Given the description of an element on the screen output the (x, y) to click on. 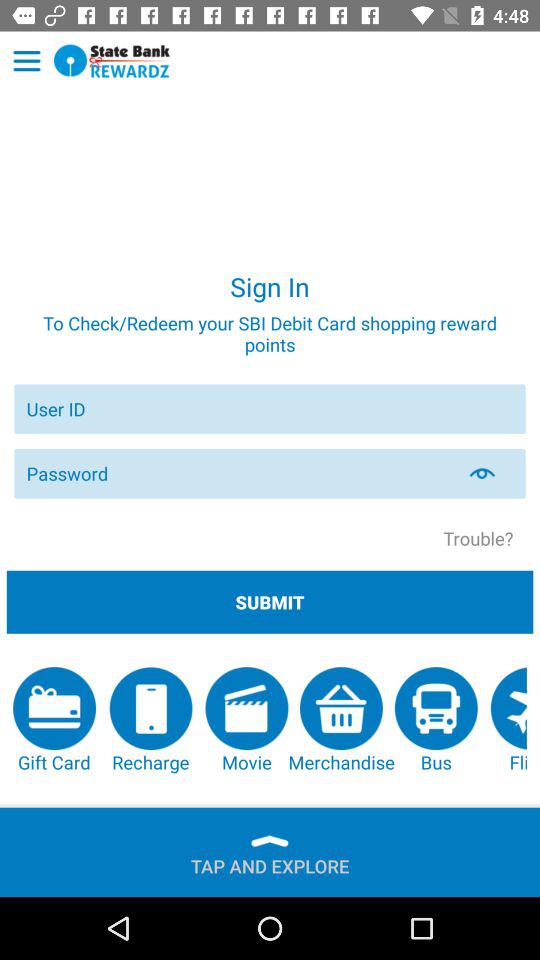
turn on app next to merchandise (435, 720)
